Given the description of an element on the screen output the (x, y) to click on. 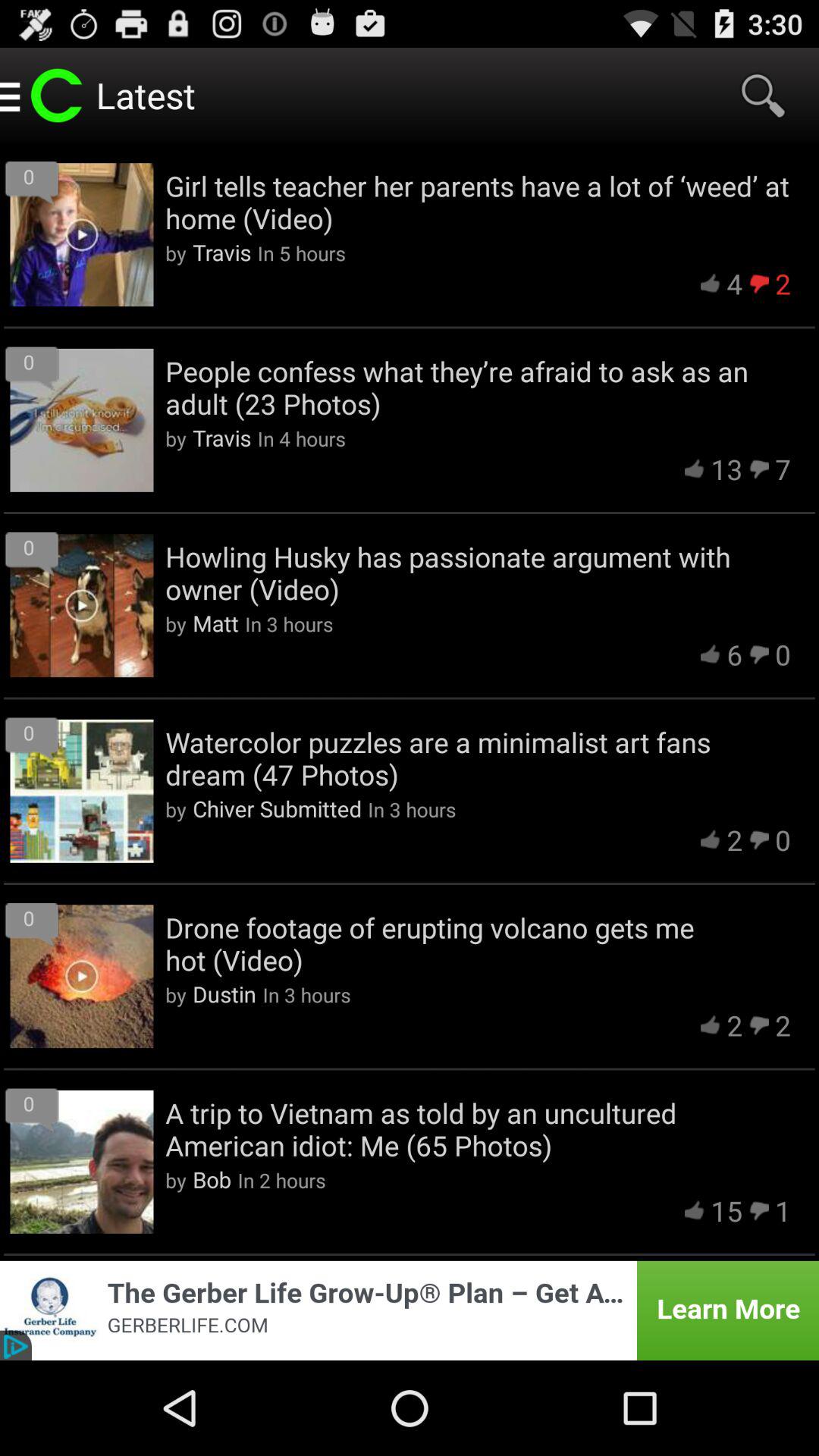
swipe to bob icon (211, 1179)
